Given the description of an element on the screen output the (x, y) to click on. 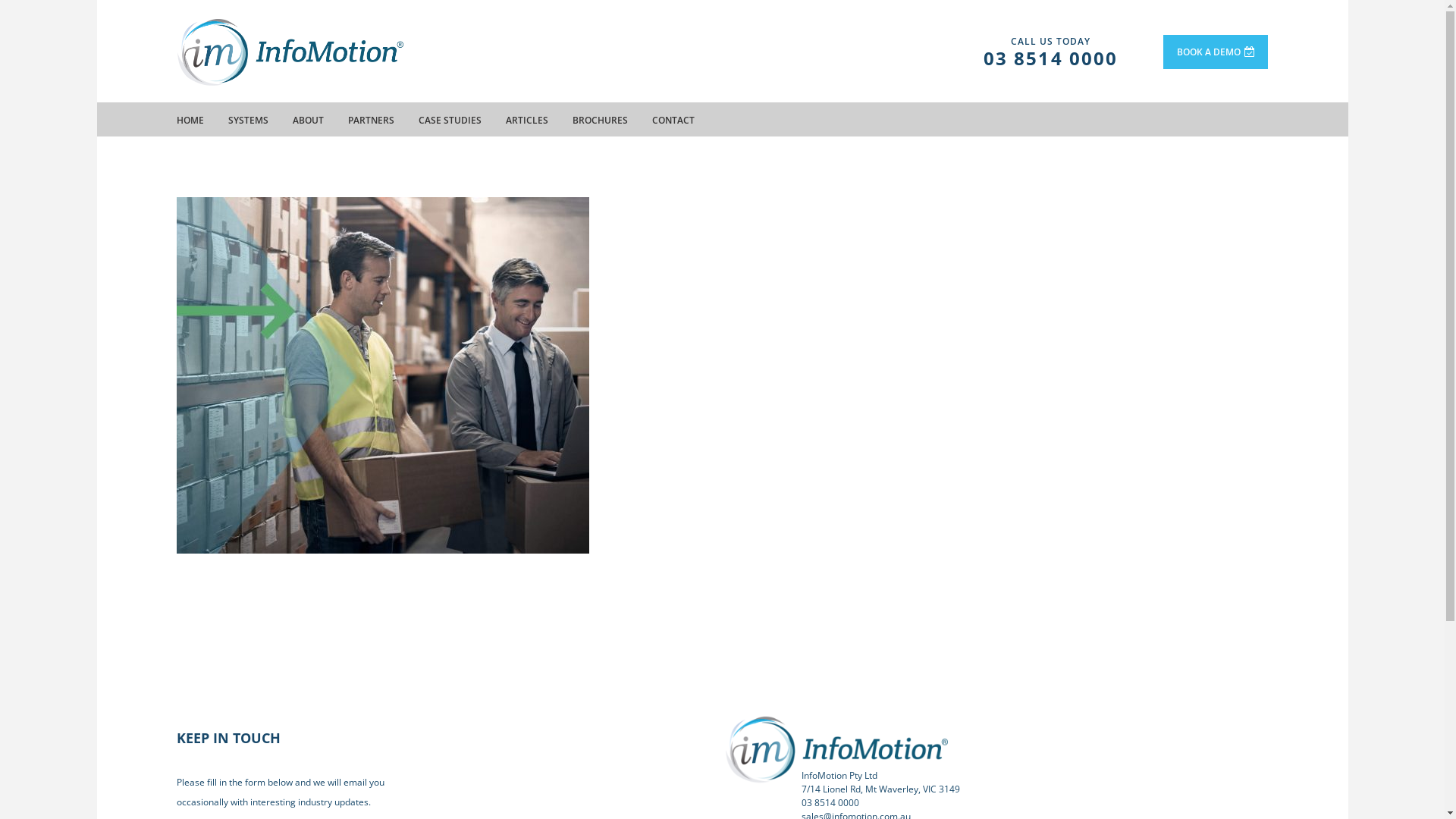
BROCHURES Element type: text (599, 120)
CASE STUDIES Element type: text (449, 120)
ABOUT Element type: text (307, 120)
PARTNERS Element type: text (370, 120)
SYSTEMS Element type: text (247, 120)
BOOK A DEMO Element type: text (1215, 51)
HOME Element type: text (189, 120)
CONTACT Element type: text (673, 120)
ARTICLES Element type: text (526, 120)
